Given the description of an element on the screen output the (x, y) to click on. 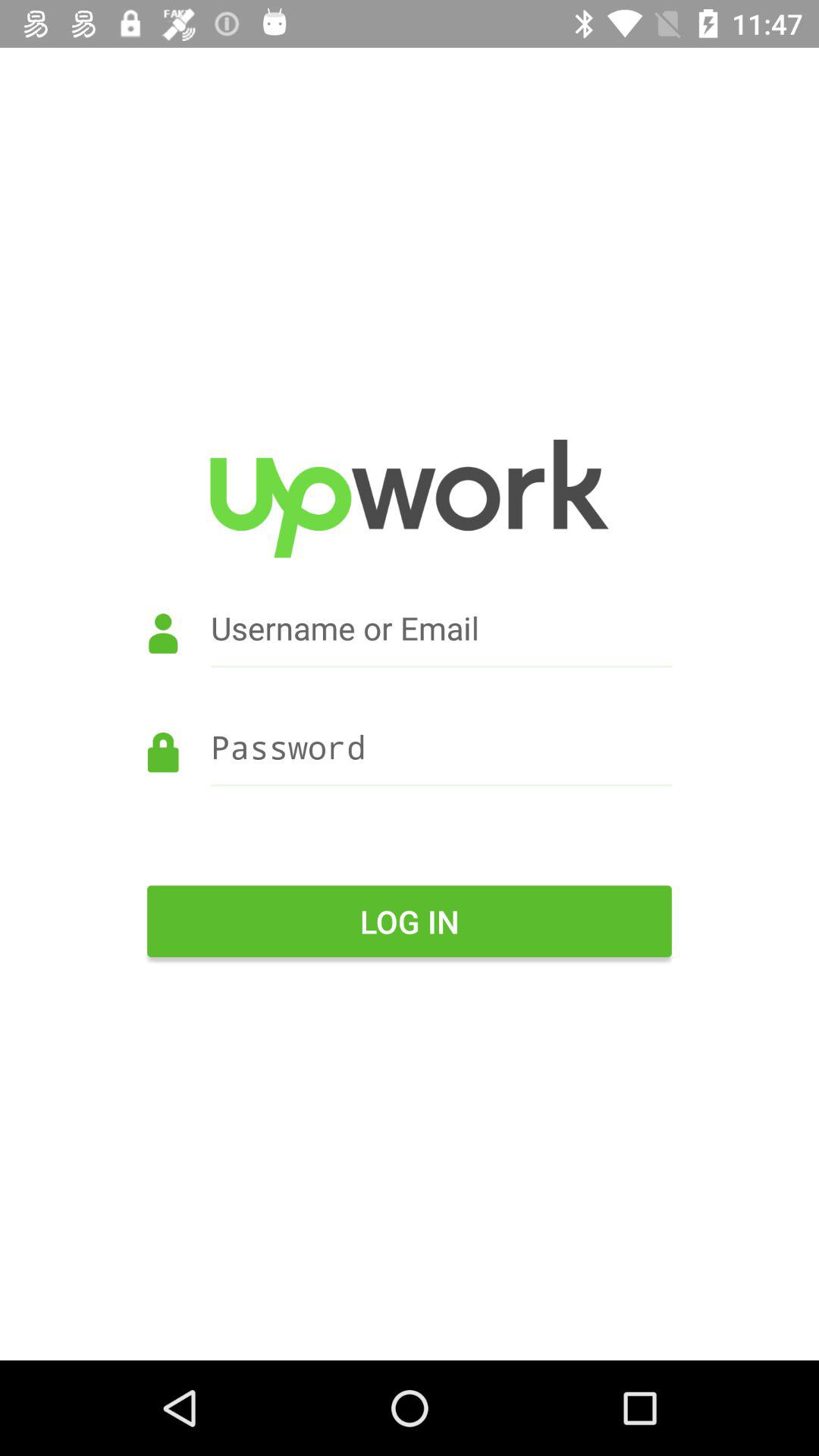
username or email entry field (409, 649)
